Given the description of an element on the screen output the (x, y) to click on. 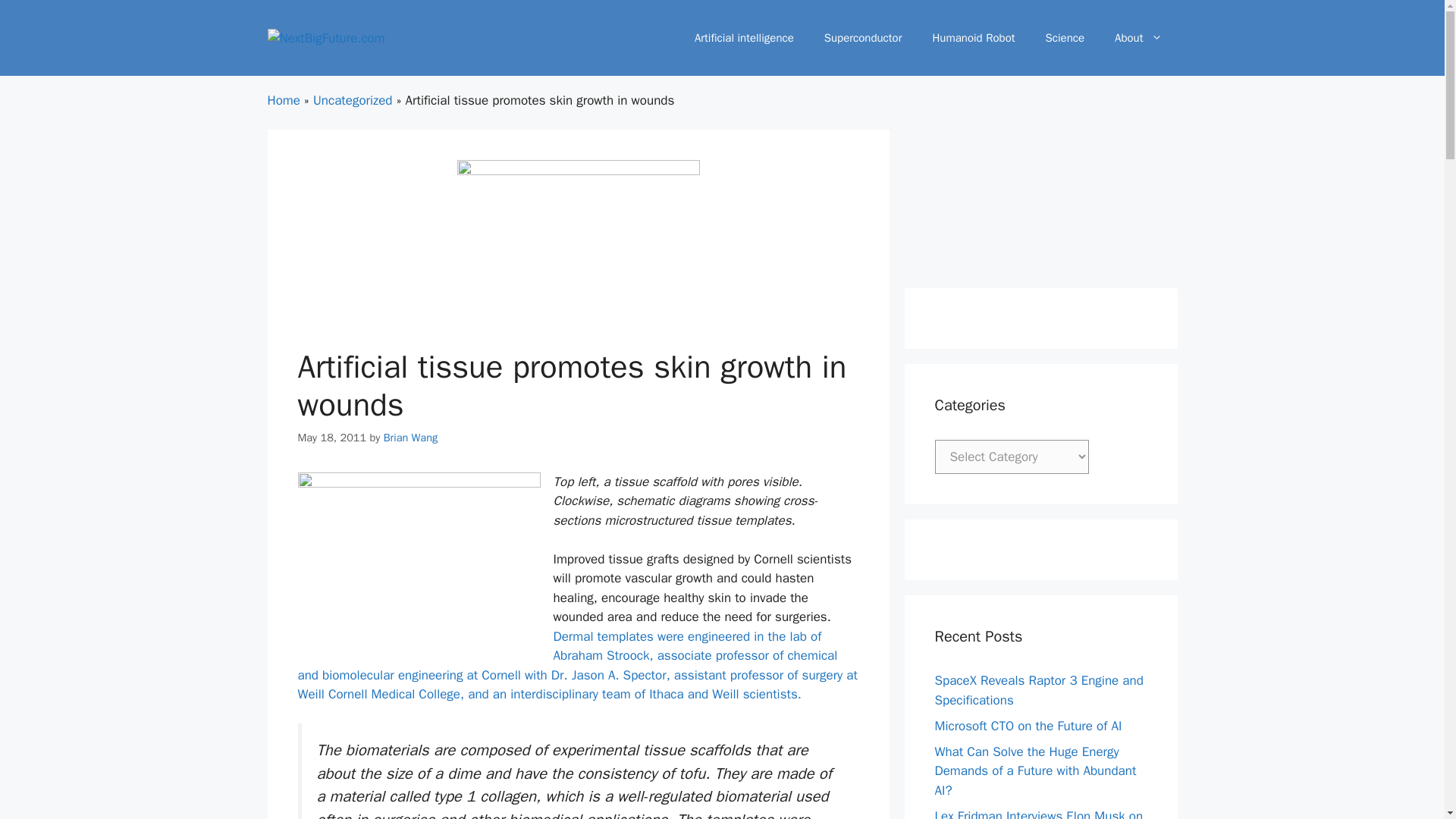
Science (1065, 37)
Artificial intelligence (744, 37)
Uncategorized (353, 100)
Superconductor (863, 37)
About (1137, 37)
Home (282, 100)
Humanoid Robot (973, 37)
Brian Wang (411, 437)
View all posts by Brian Wang (411, 437)
